Given the description of an element on the screen output the (x, y) to click on. 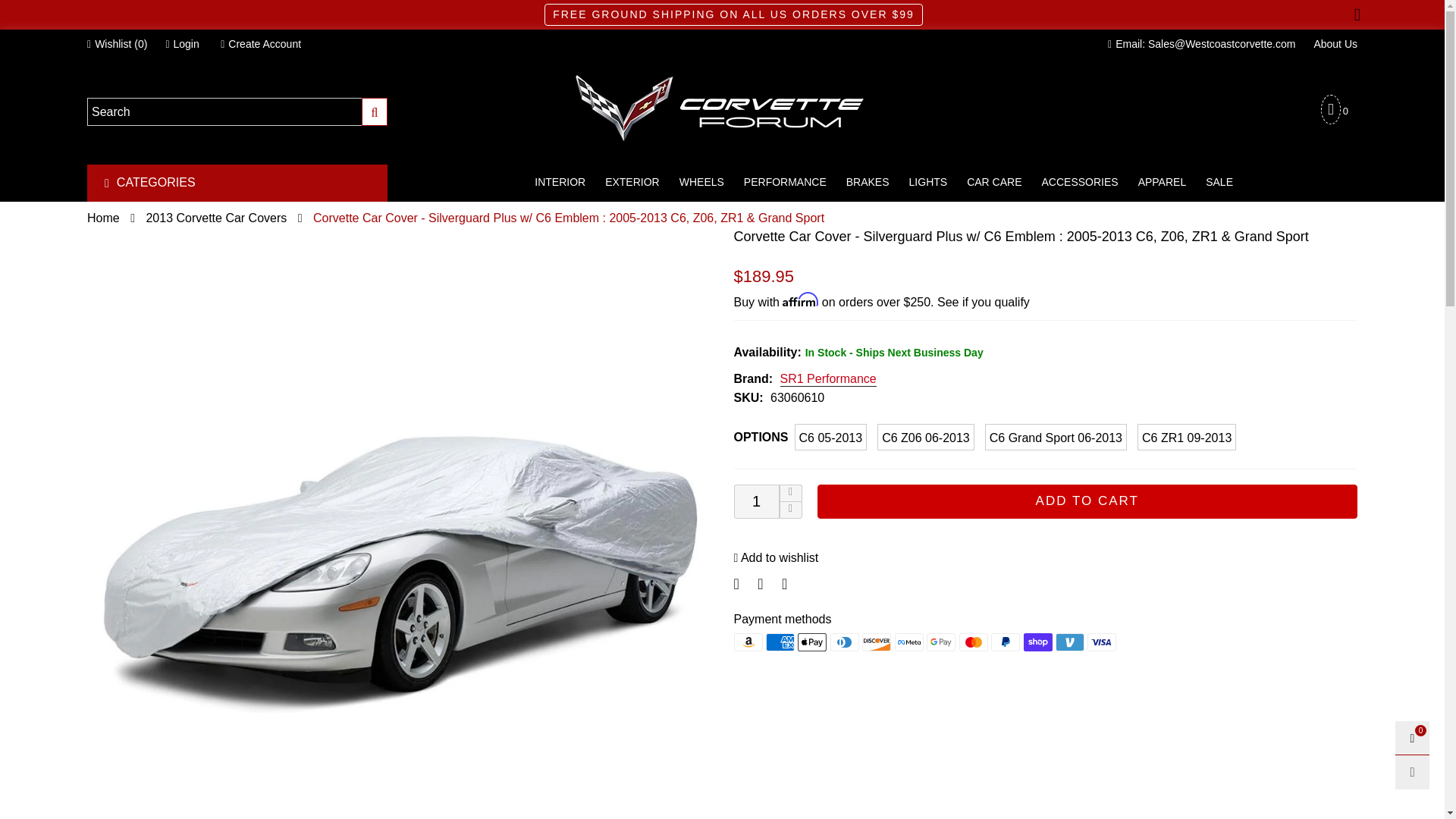
Categories (229, 182)
Submit (374, 111)
Create Account (260, 43)
Meta Pay (909, 642)
Visa (1101, 642)
Login (181, 43)
Sign In (211, 231)
INTERIOR (559, 181)
INTERIOR (559, 181)
My Account (181, 43)
